Given the description of an element on the screen output the (x, y) to click on. 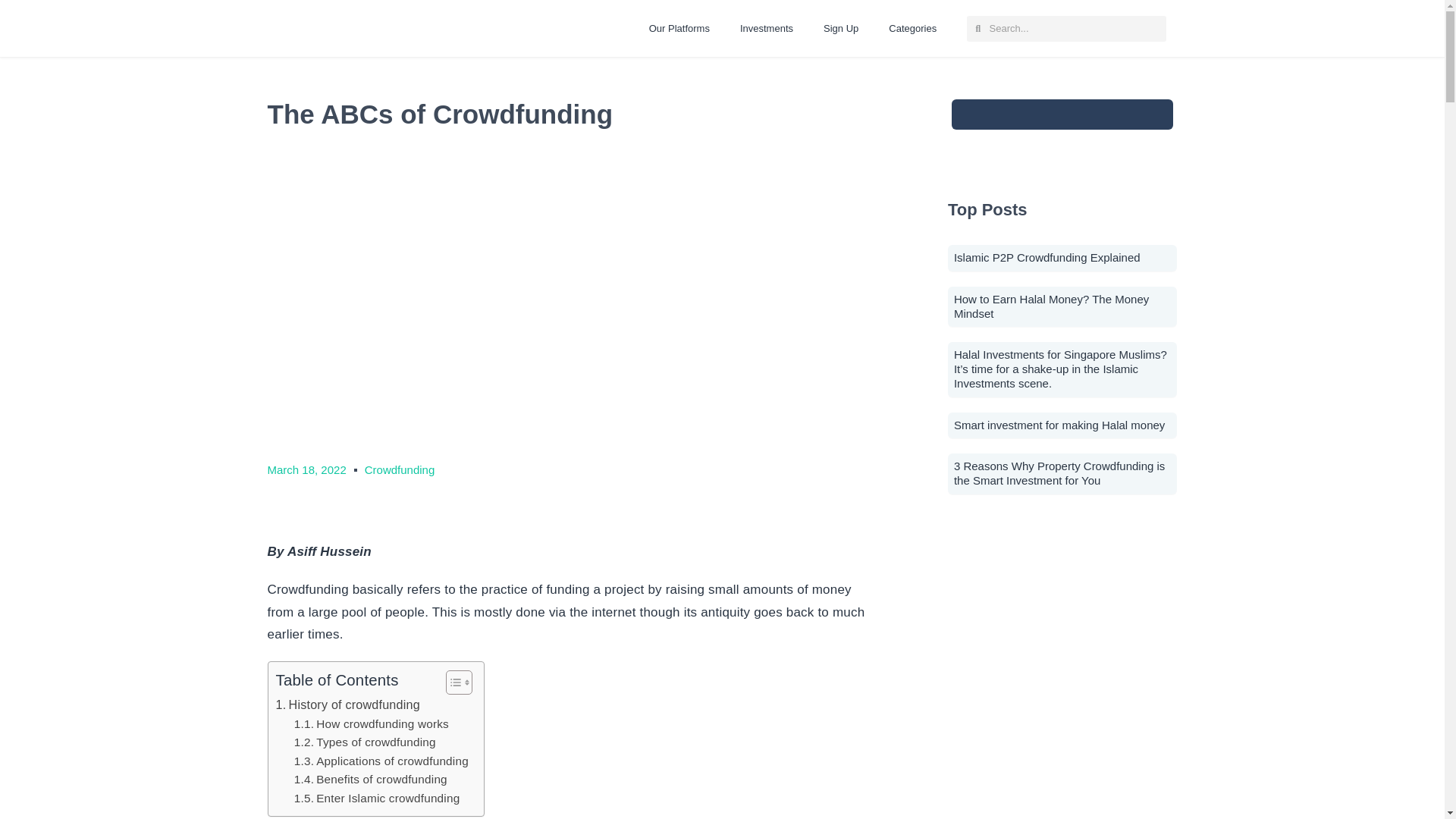
Sign Up (840, 28)
Benefits of crowdfunding (370, 779)
Search (1072, 27)
Investments (766, 28)
Types of crowdfunding (364, 742)
Applications of crowdfunding (381, 761)
Our Platforms (679, 28)
Enter Islamic crowdfunding (377, 798)
How crowdfunding works (371, 723)
History of crowdfunding (348, 704)
